Given the description of an element on the screen output the (x, y) to click on. 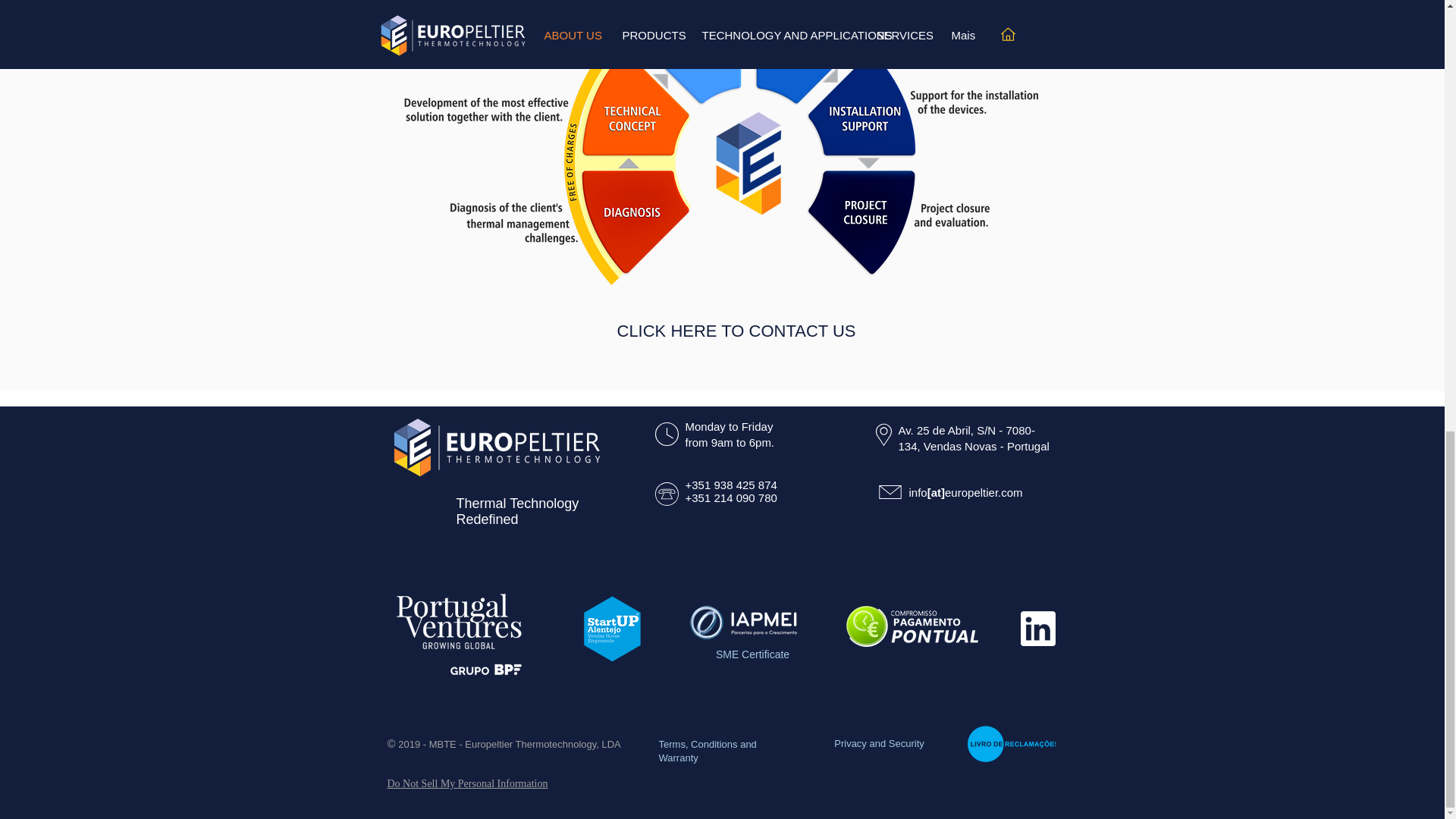
Do Not Sell My Personal Information (467, 783)
Privacy and Security (879, 743)
CLICK HERE TO CONTACT US (735, 331)
Terms, Conditions and Warranty (706, 750)
SME Certificate (752, 654)
